Given the description of an element on the screen output the (x, y) to click on. 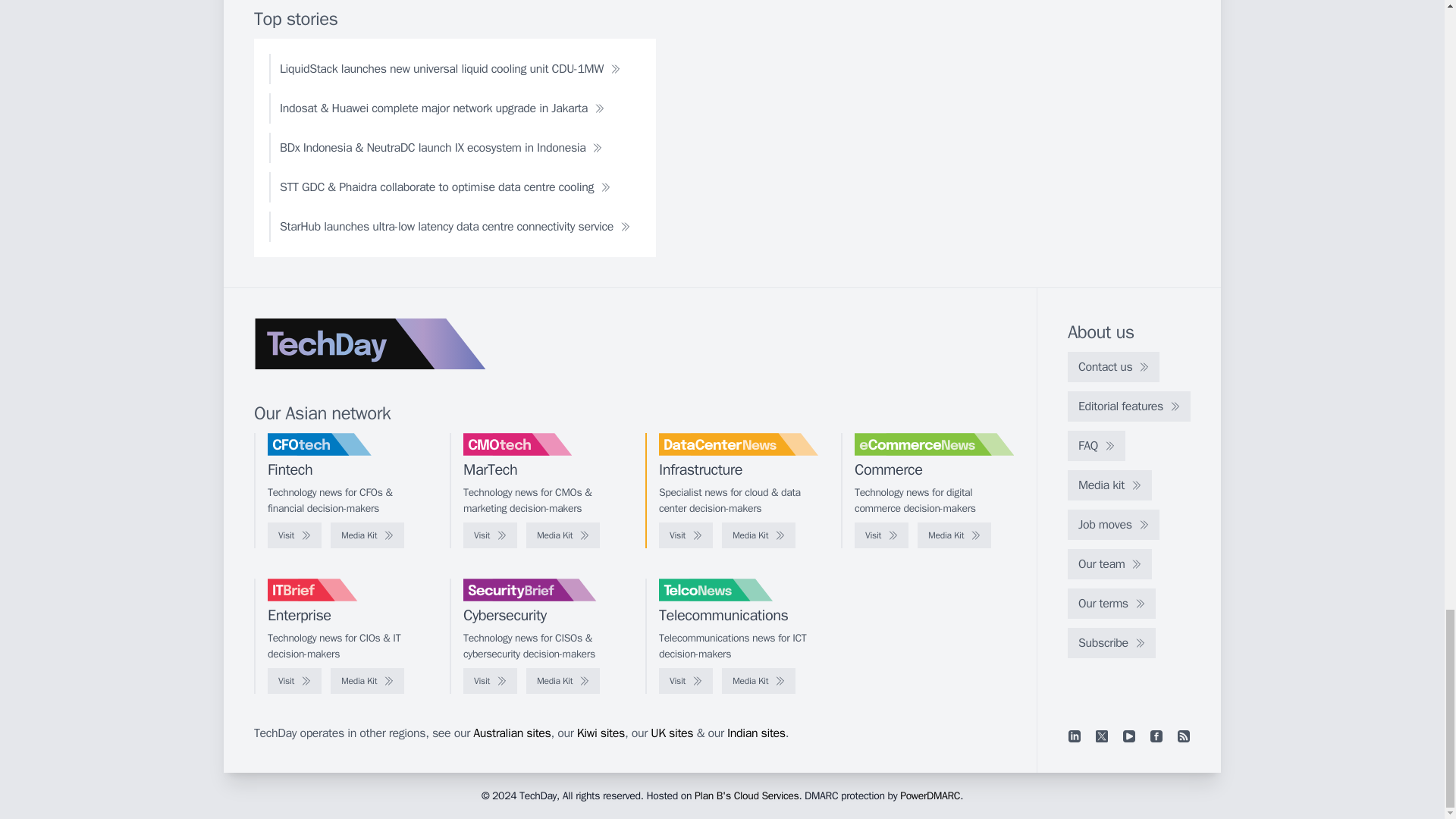
Media Kit (954, 534)
Visit (881, 534)
Media Kit (562, 534)
Media Kit (367, 534)
Visit (686, 534)
Visit (489, 534)
Visit (294, 534)
Media Kit (758, 534)
